Given the description of an element on the screen output the (x, y) to click on. 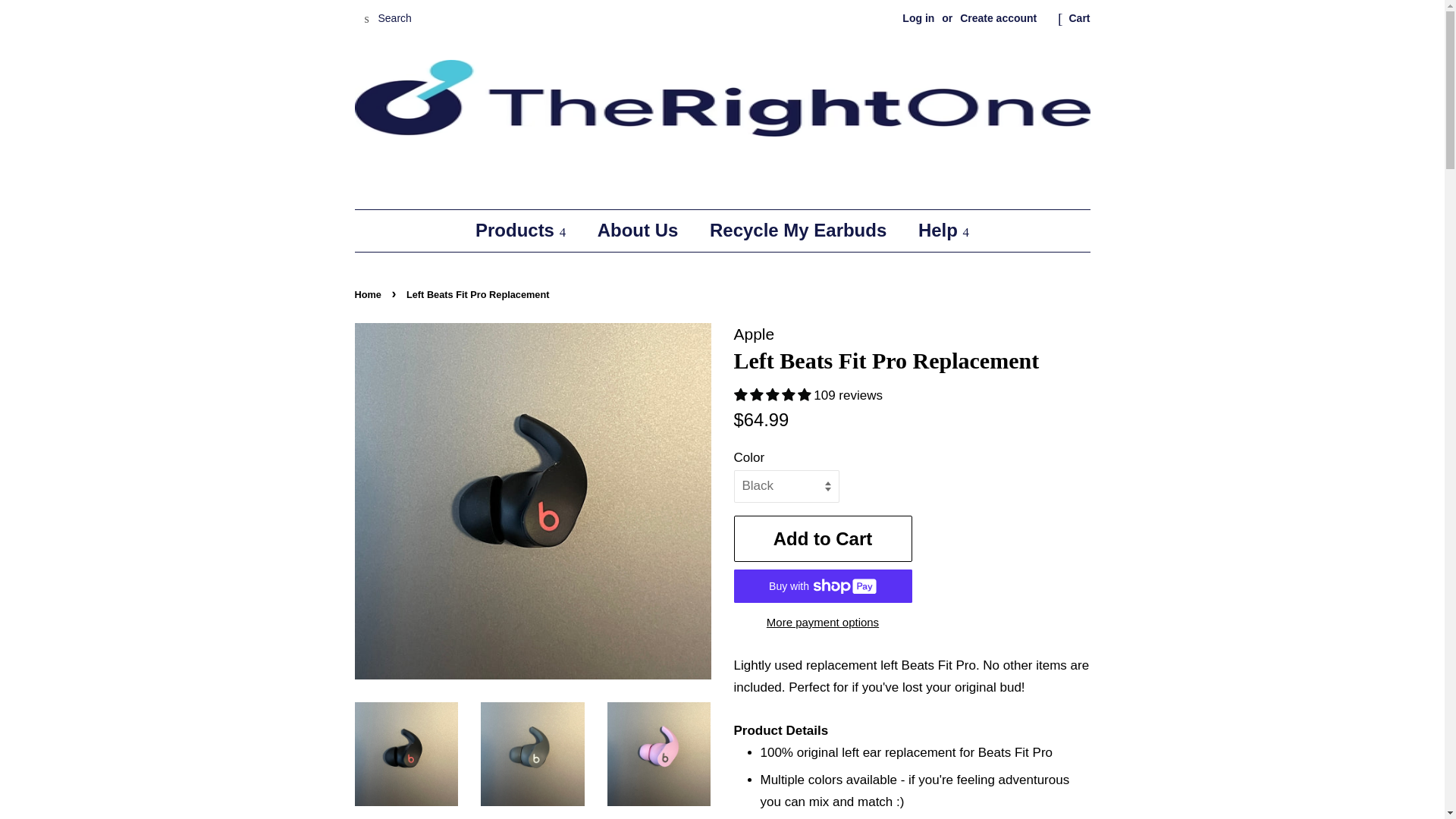
Search (366, 18)
Back to the frontpage (370, 294)
Create account (997, 18)
Cart (1078, 18)
Log in (918, 18)
